Given the description of an element on the screen output the (x, y) to click on. 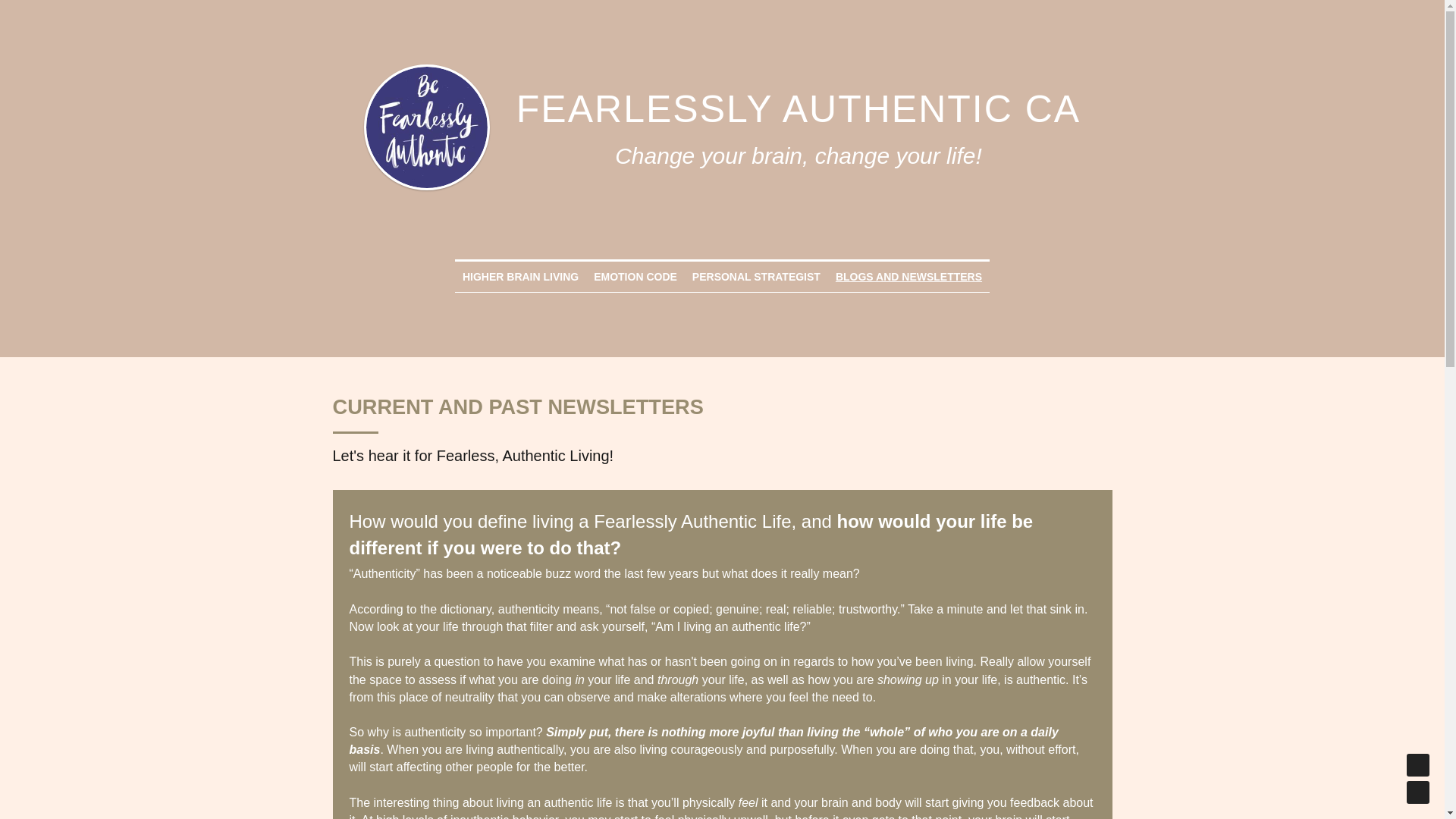
PERSONAL STRATEGIST (757, 276)
HIGHER BRAIN LIVING (520, 276)
BLOGS AND NEWSLETTERS (908, 276)
EMOTION CODE (635, 276)
